Given the description of an element on the screen output the (x, y) to click on. 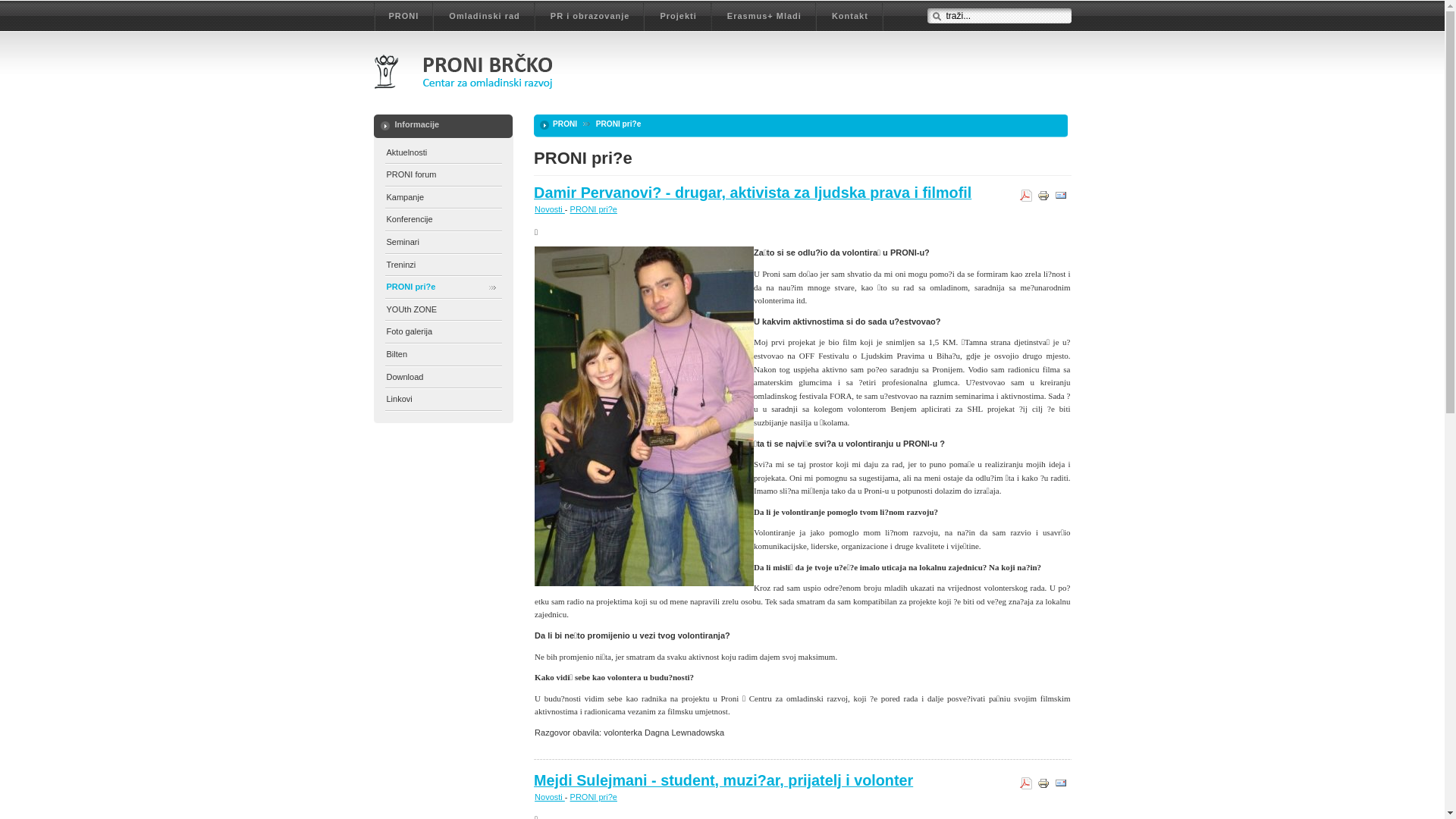
Novosti Element type: text (549, 208)
PRONI pri?e Element type: text (593, 208)
Erasmus+ Mladi Element type: text (764, 17)
Novosti Element type: text (549, 796)
PRONI Element type: text (564, 123)
PRONI pri?e Element type: text (593, 796)
PRONI Element type: text (403, 17)
Bilten Element type: text (443, 355)
Treninzi Element type: text (443, 265)
YOUth ZONE Element type: text (443, 310)
Mejdi Sulejmani - student, muzi?ar, prijatelj i volonter Element type: text (723, 779)
PR i obrazovanje Element type: text (590, 17)
PRONI forum Element type: text (443, 175)
Kampanje Element type: text (443, 198)
Download Element type: text (443, 378)
Kontakt Element type: text (849, 17)
Projekti Element type: text (677, 17)
Linkovi Element type: text (443, 400)
Seminari Element type: text (443, 243)
PRONI pri?e Element type: text (443, 287)
Aktuelnosti Element type: text (443, 153)
Foto galerija Element type: text (443, 332)
Konferencije Element type: text (443, 220)
Omladinski rad Element type: text (483, 17)
